Given the description of an element on the screen output the (x, y) to click on. 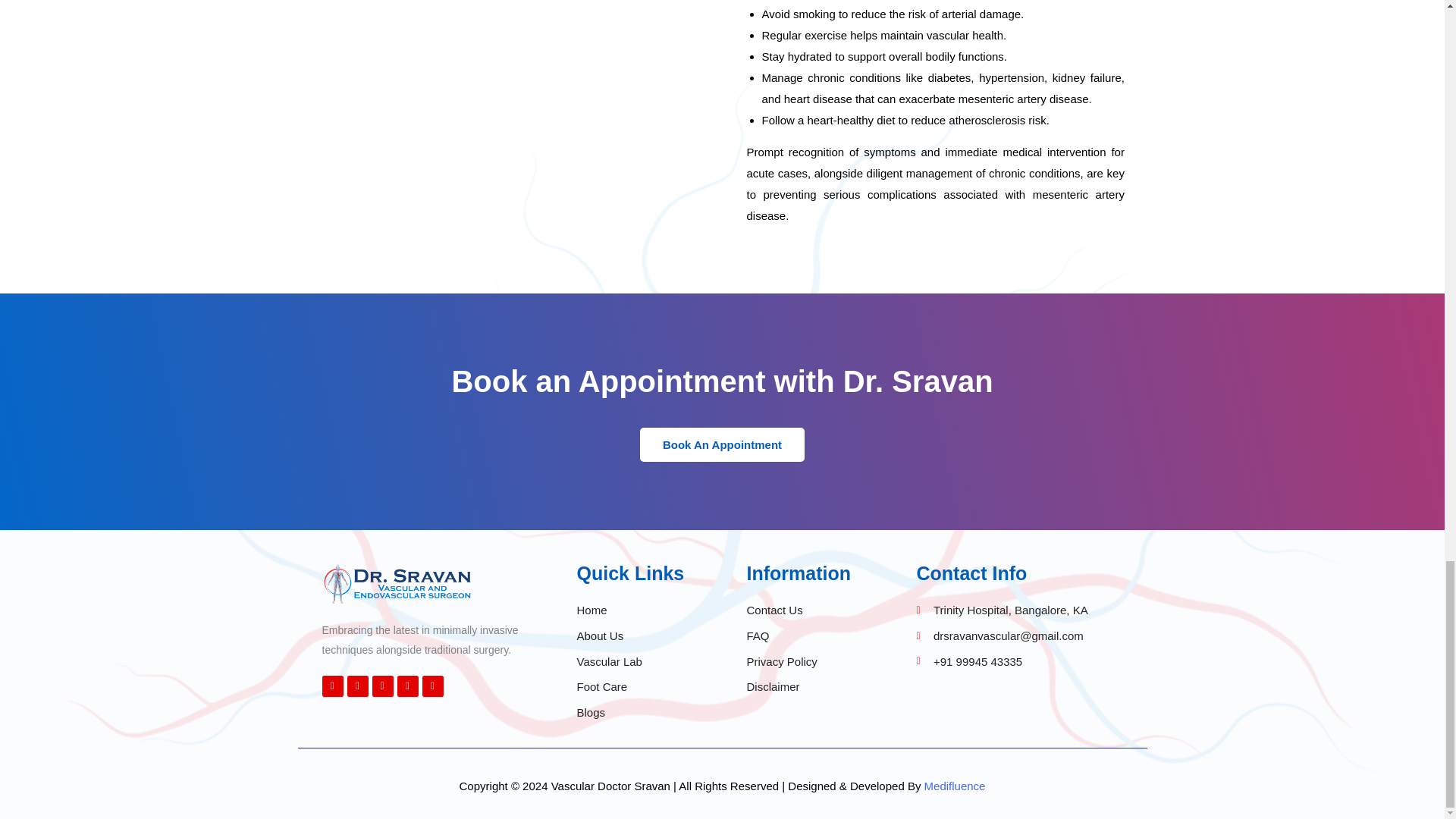
Instagram (357, 685)
FAQ (806, 636)
Facebook (331, 685)
Home (636, 609)
About Us (636, 636)
Youtube (432, 685)
Vascular Lab (636, 661)
Twitter (408, 685)
Blogs (636, 712)
Linkedin (382, 685)
Contact Us (806, 609)
Book An Appointment (722, 444)
Foot Care (636, 686)
